Given the description of an element on the screen output the (x, y) to click on. 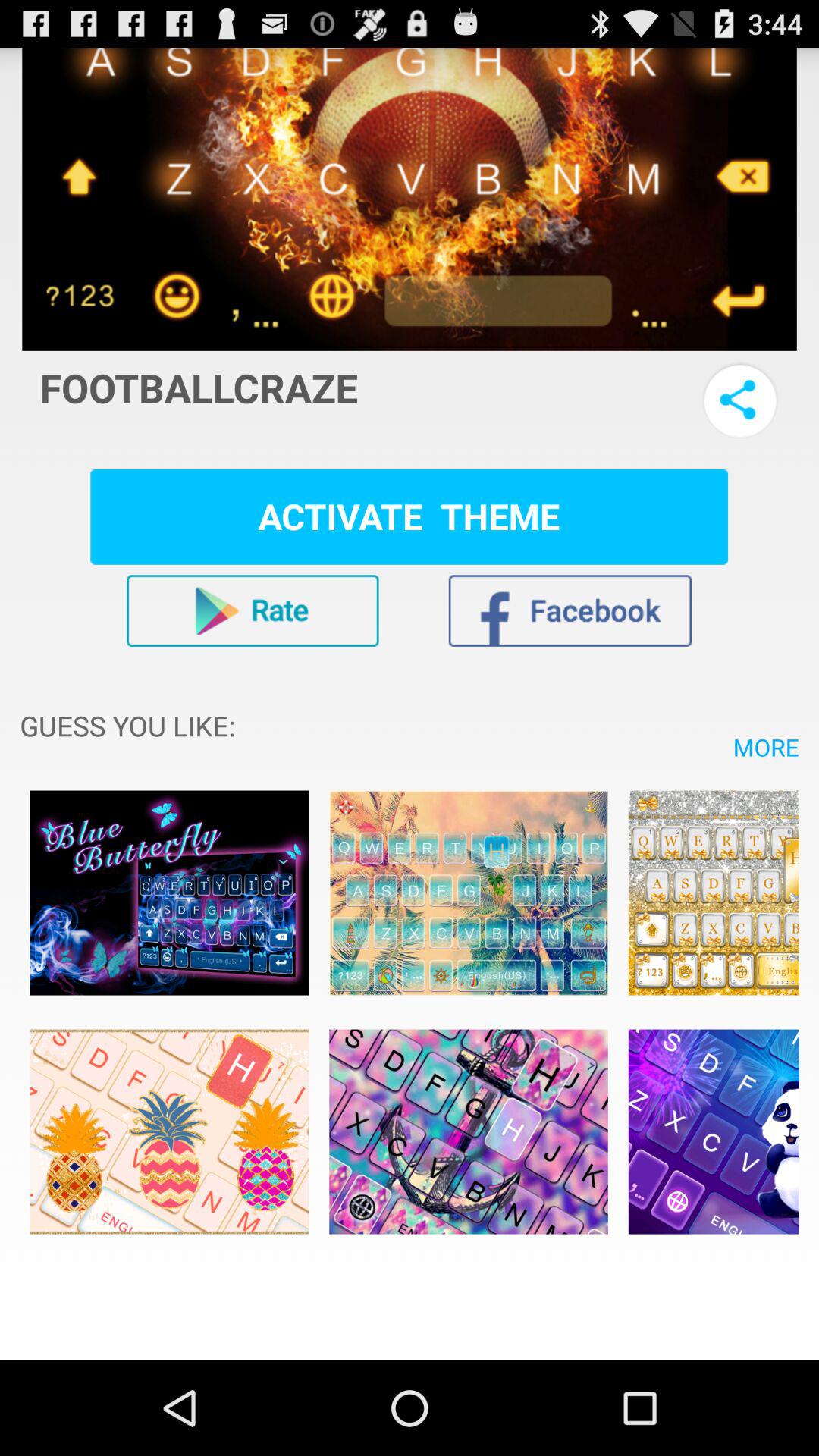
select new app (713, 892)
